Given the description of an element on the screen output the (x, y) to click on. 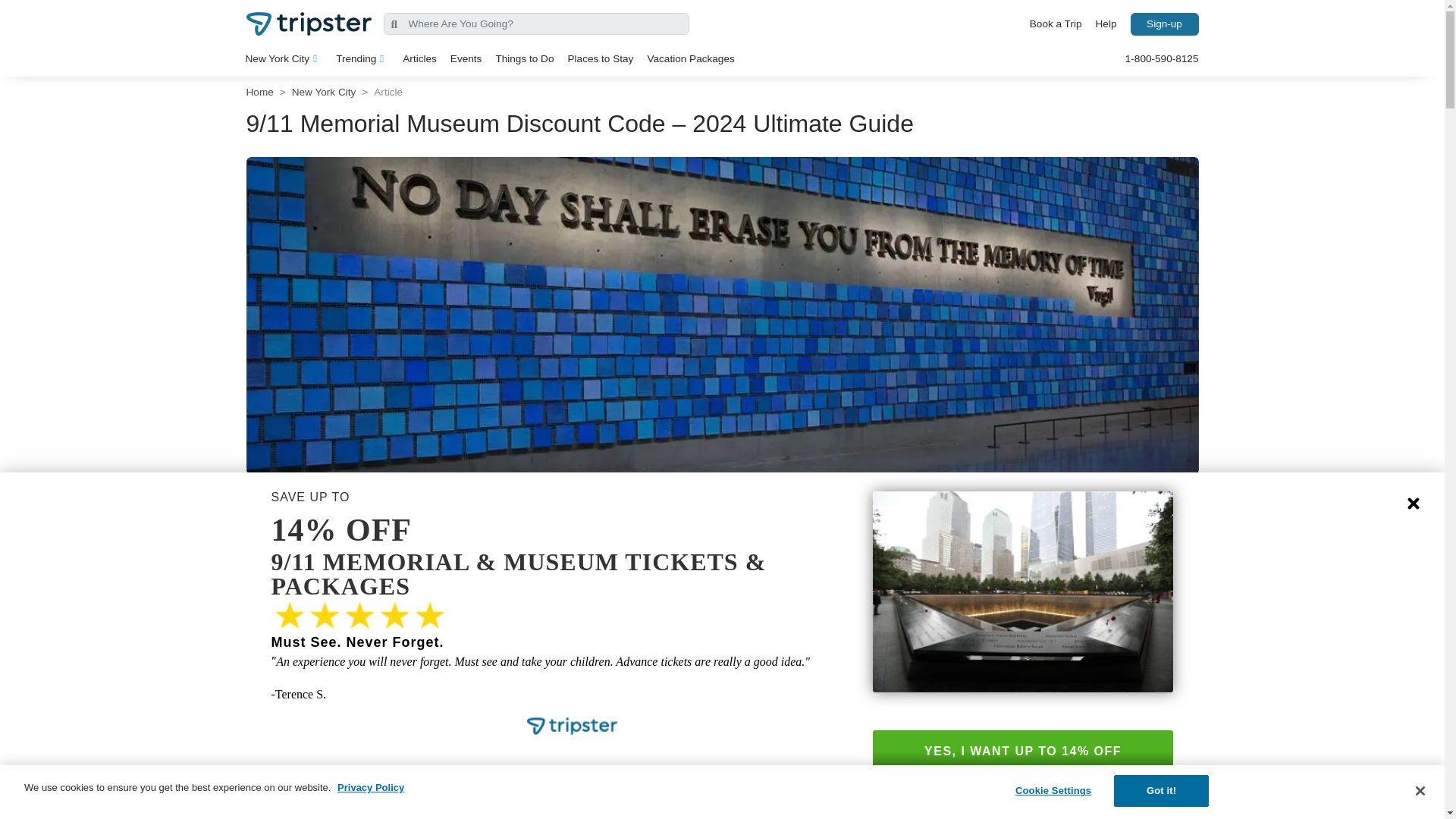
New York City (283, 58)
Trending (362, 58)
Close (1413, 503)
Book a Trip (1056, 24)
Help (1106, 24)
Sign-up (1163, 23)
No thanks, I don't need to save any money today (1022, 783)
